Given the description of an element on the screen output the (x, y) to click on. 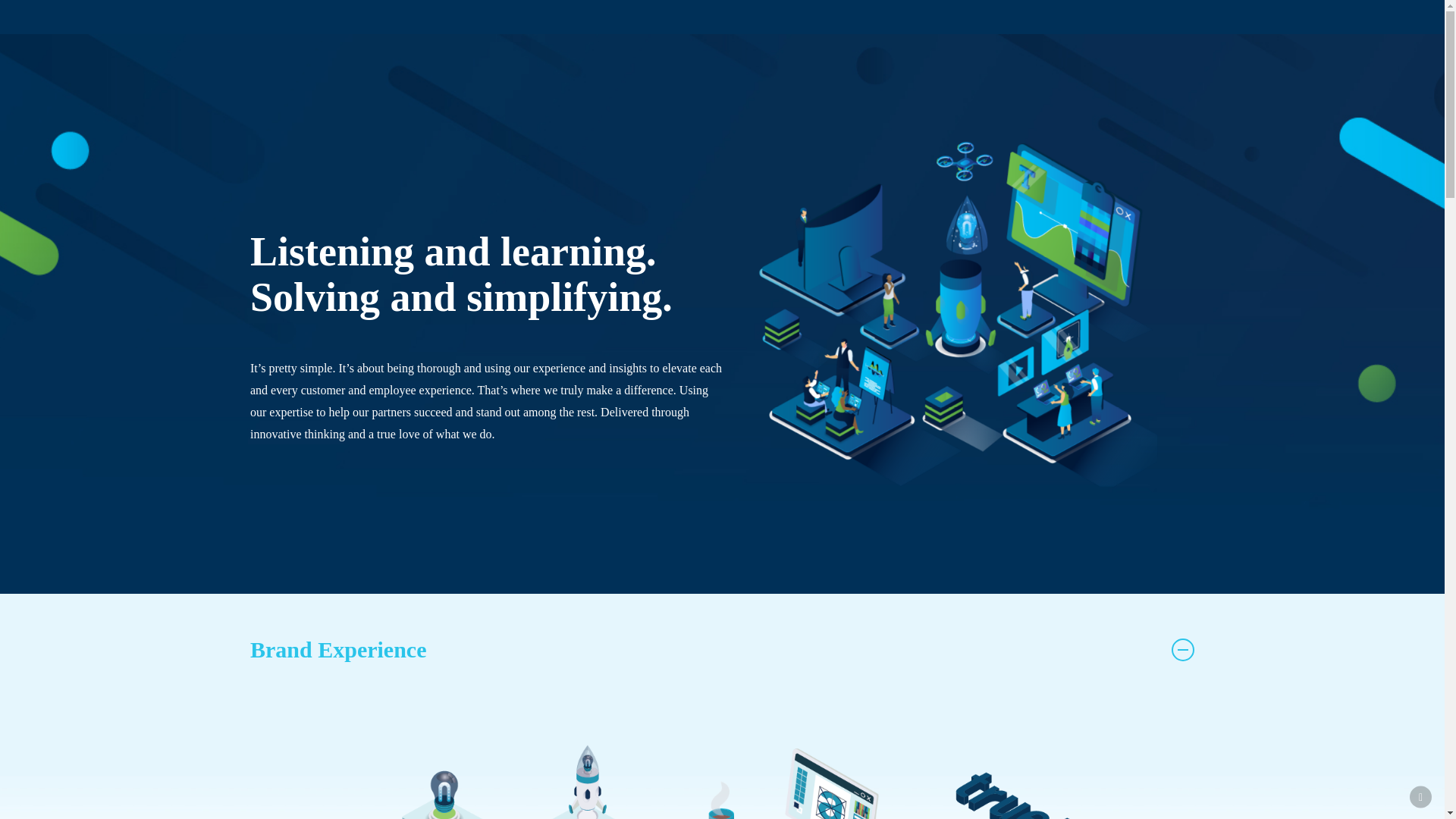
Brand Experience (721, 649)
